Given the description of an element on the screen output the (x, y) to click on. 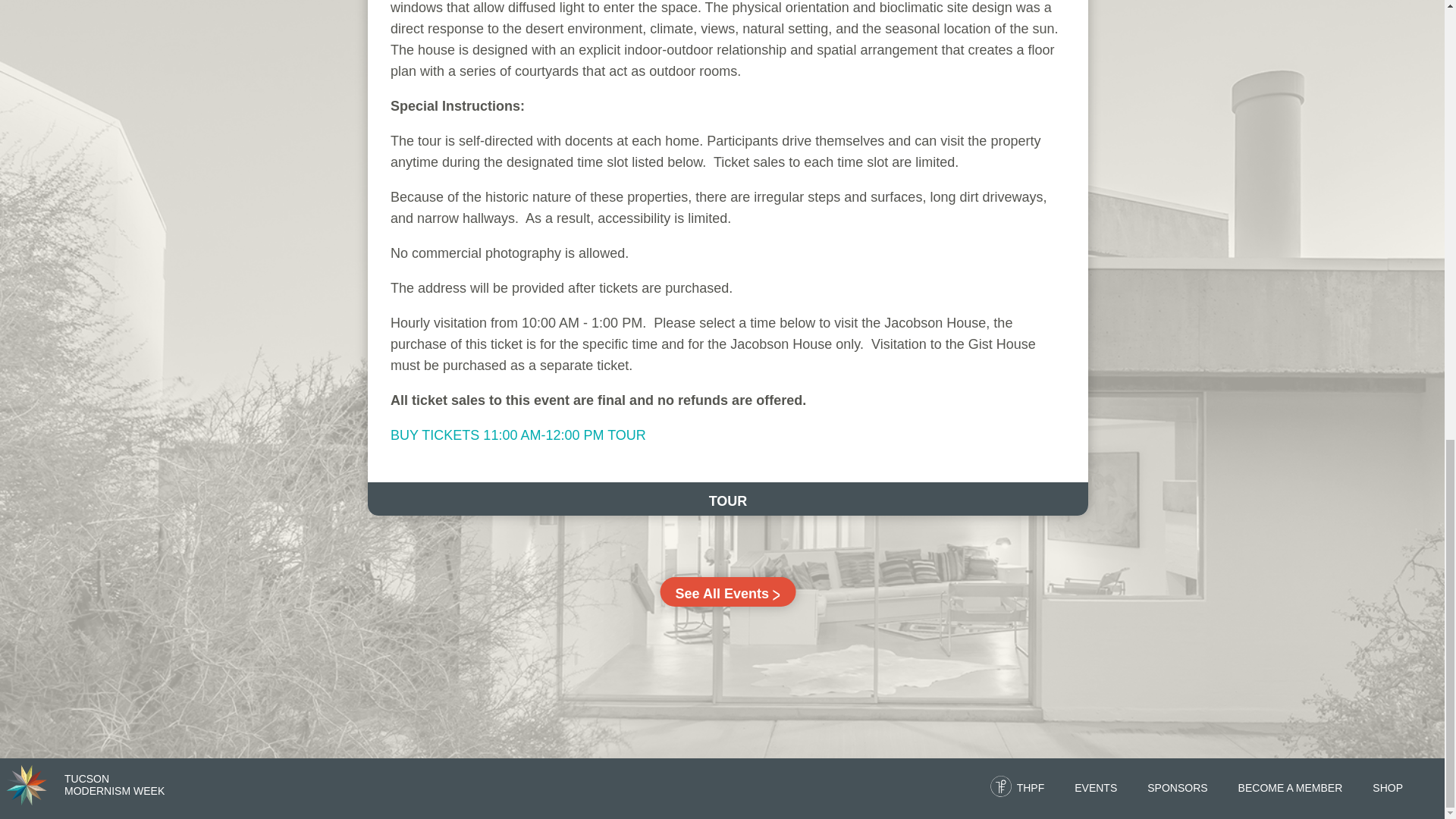
THPF (1030, 787)
See All Events (114, 784)
BUY TICKETS 11:00 AM-12:00 PM TOUR (728, 591)
SPONSORS (518, 435)
Modernism Week logo (1177, 787)
BECOME A MEMBER (26, 784)
EVENTS (1290, 787)
SHOP (1095, 787)
